Given the description of an element on the screen output the (x, y) to click on. 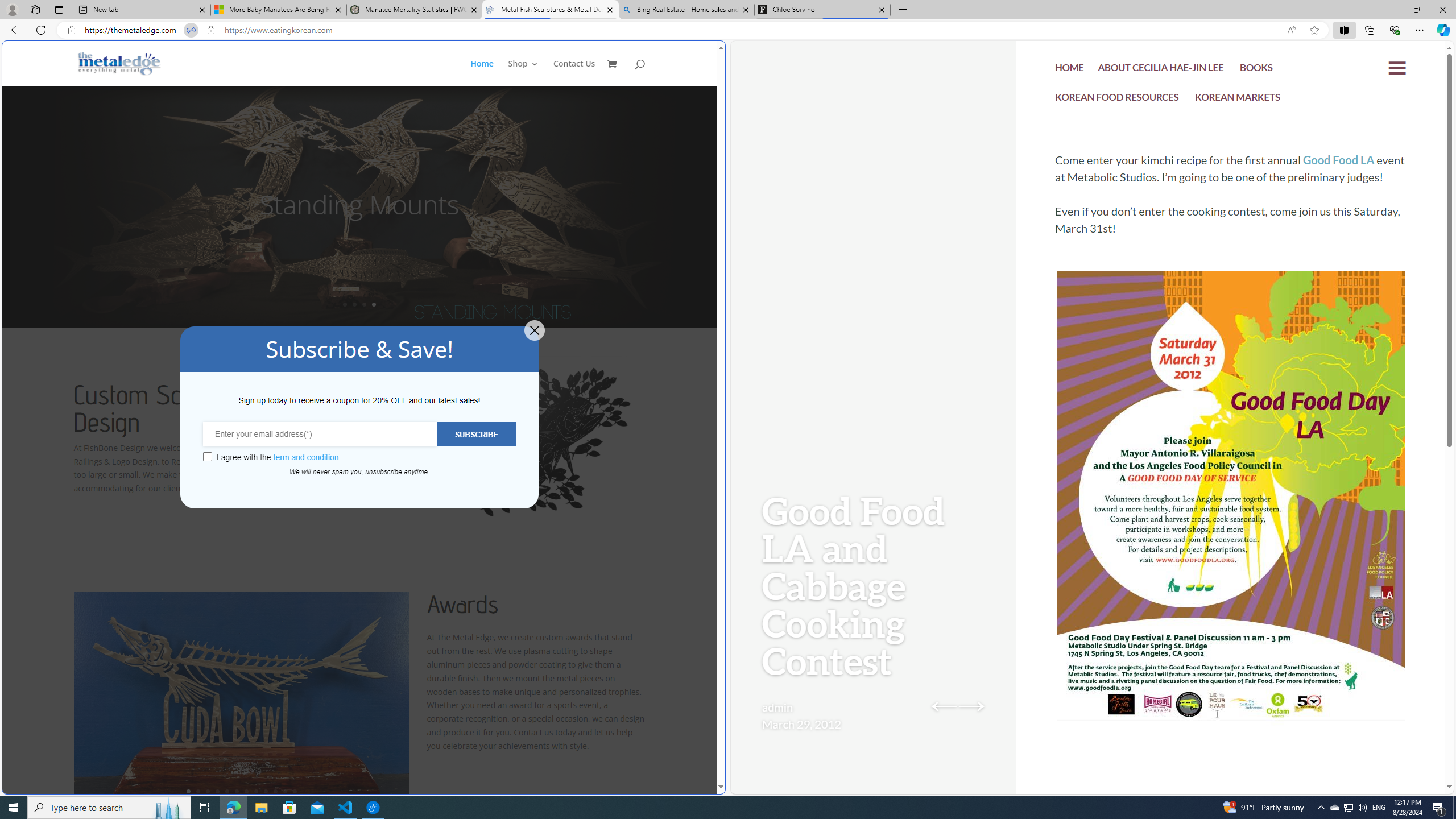
5 (226, 790)
ABOUT CECILIA HAE-JIN LEE (1160, 70)
9 (265, 790)
Shop 3 (523, 72)
4 (217, 790)
KOREAN FOOD RESOURCES (1117, 99)
Tabs in split screen (190, 29)
2 (198, 790)
KOREAN FOOD RESOURCES (1117, 98)
